Given the description of an element on the screen output the (x, y) to click on. 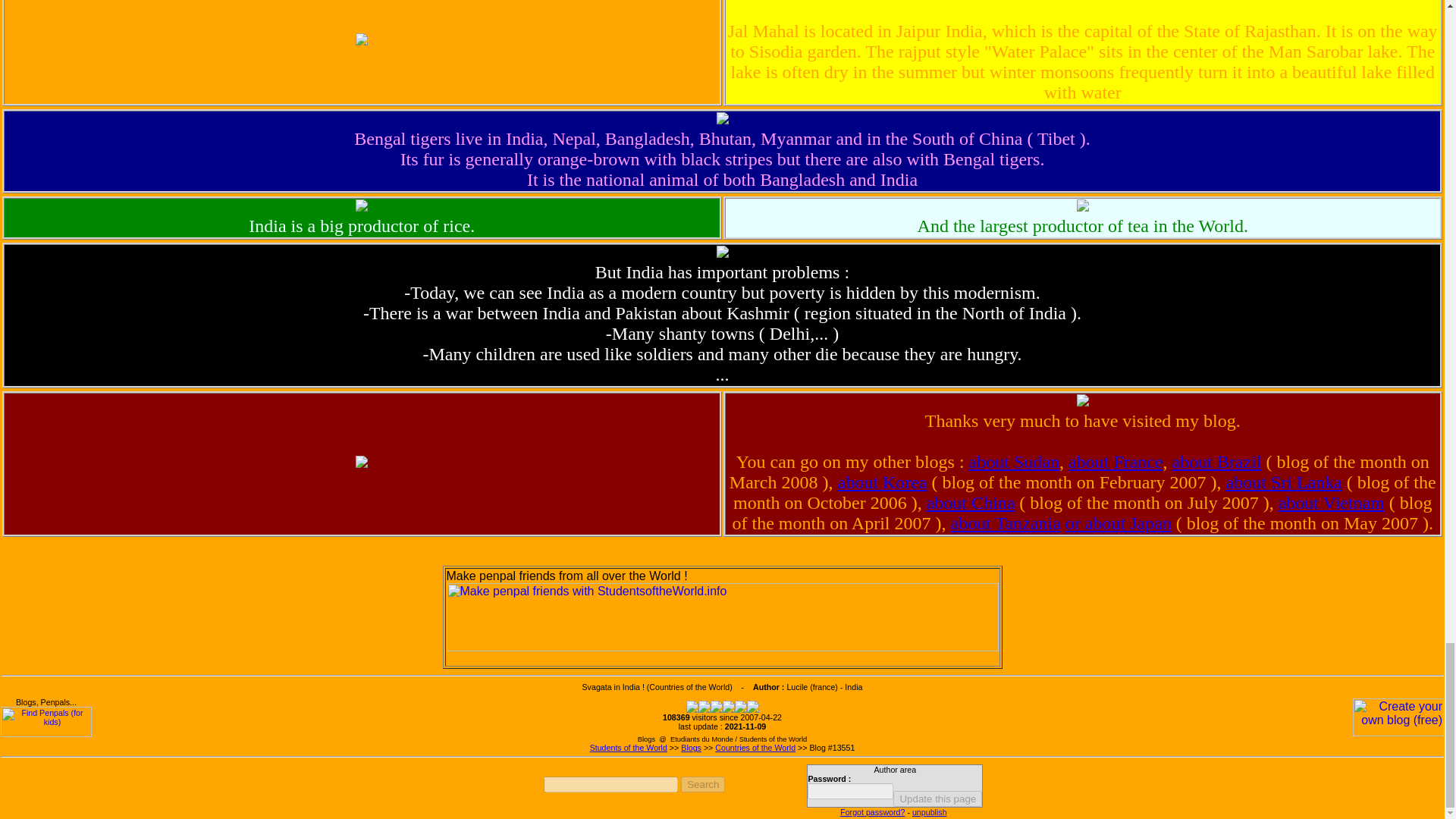
about Korea (881, 482)
about Sri Lanka (1282, 482)
about Vietnam (1331, 502)
unpublish (929, 811)
about Sudan (1014, 461)
about China (970, 502)
Make penpal friends with StudentsoftheWorld.info (721, 617)
about France (1115, 461)
Countries of the World (754, 747)
Blogs (691, 747)
Search (703, 784)
or about Japan (1118, 523)
Students of the World (627, 747)
about Brazil (1217, 461)
about Tanzania (1005, 523)
